Given the description of an element on the screen output the (x, y) to click on. 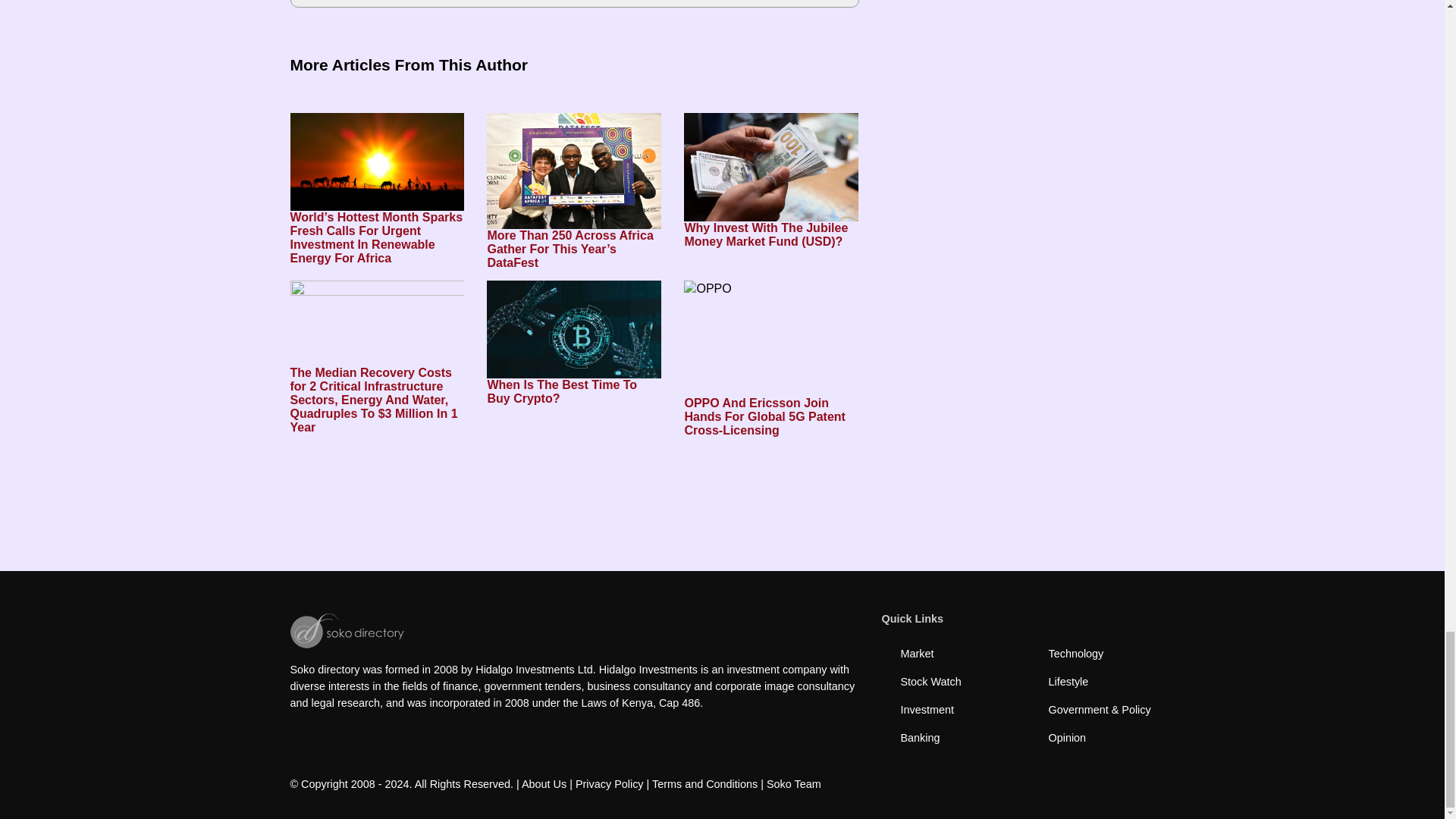
When Is The Best Time To Buy Crypto? (573, 391)
